Given the description of an element on the screen output the (x, y) to click on. 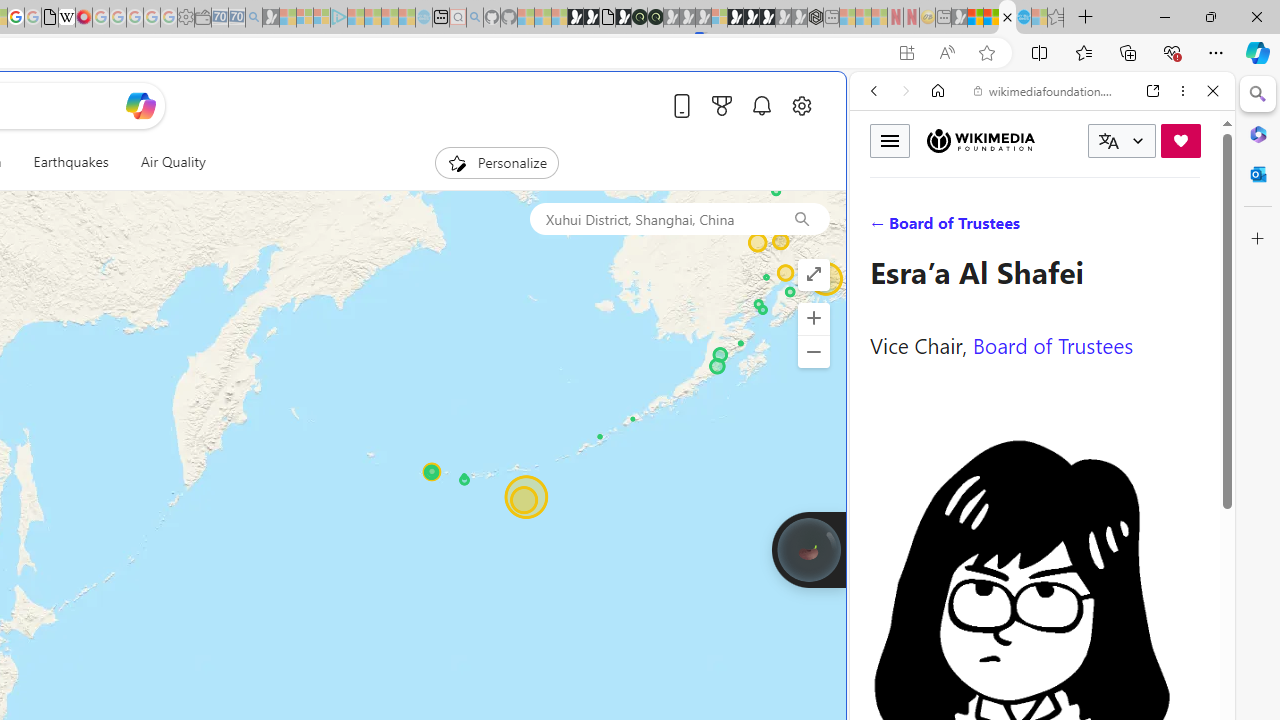
Microsoft Start Gaming - Sleeping (270, 17)
Open link in new tab (1153, 91)
Play Zoo Boom in your browser | Games from Microsoft Start (591, 17)
Zoom out (813, 351)
wikimediafoundation.org (1045, 90)
Notifications (762, 105)
Close Outlook pane (1258, 174)
Wikimedia Foundation (980, 140)
Global web icon (888, 669)
Earthquakes (70, 162)
